Given the description of an element on the screen output the (x, y) to click on. 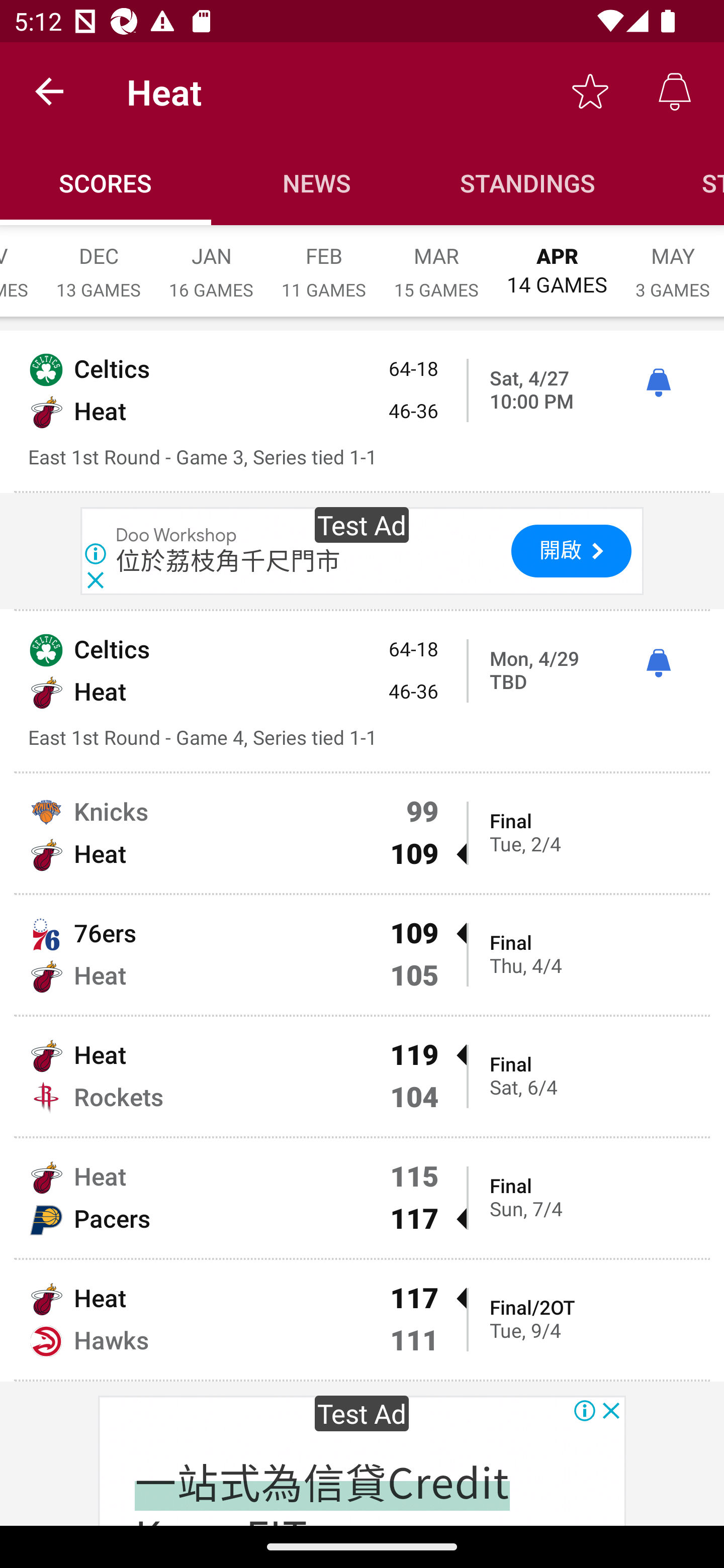
back.button (49, 90)
Favorite toggle (590, 90)
Alerts (674, 90)
News NEWS (316, 183)
Standings STANDINGS (527, 183)
Stats STATS (678, 183)
DEC 13 GAMES (97, 262)
JAN 16 GAMES (210, 262)
FEB 11 GAMES (323, 262)
MAR 15 GAMES (436, 262)
APR 14 GAMES (557, 261)
MAY 3 GAMES (672, 262)
ì (658, 382)
Doo Workshop (176, 536)
開啟 (570, 551)
位於荔枝角千尺門市 (228, 561)
ì (658, 662)
Knicks 99 Heat 109  Final Tue, 2/4 (362, 833)
76ers 109  Heat 105 Final Thu, 4/4 (362, 954)
Heat 119  Rockets 104 Final Sat, 6/4 (362, 1076)
Heat 115 Pacers 117  Final Sun, 7/4 (362, 1197)
Heat 117  Hawks 111 Final/2OT Tue, 9/4 (362, 1319)
